Given the description of an element on the screen output the (x, y) to click on. 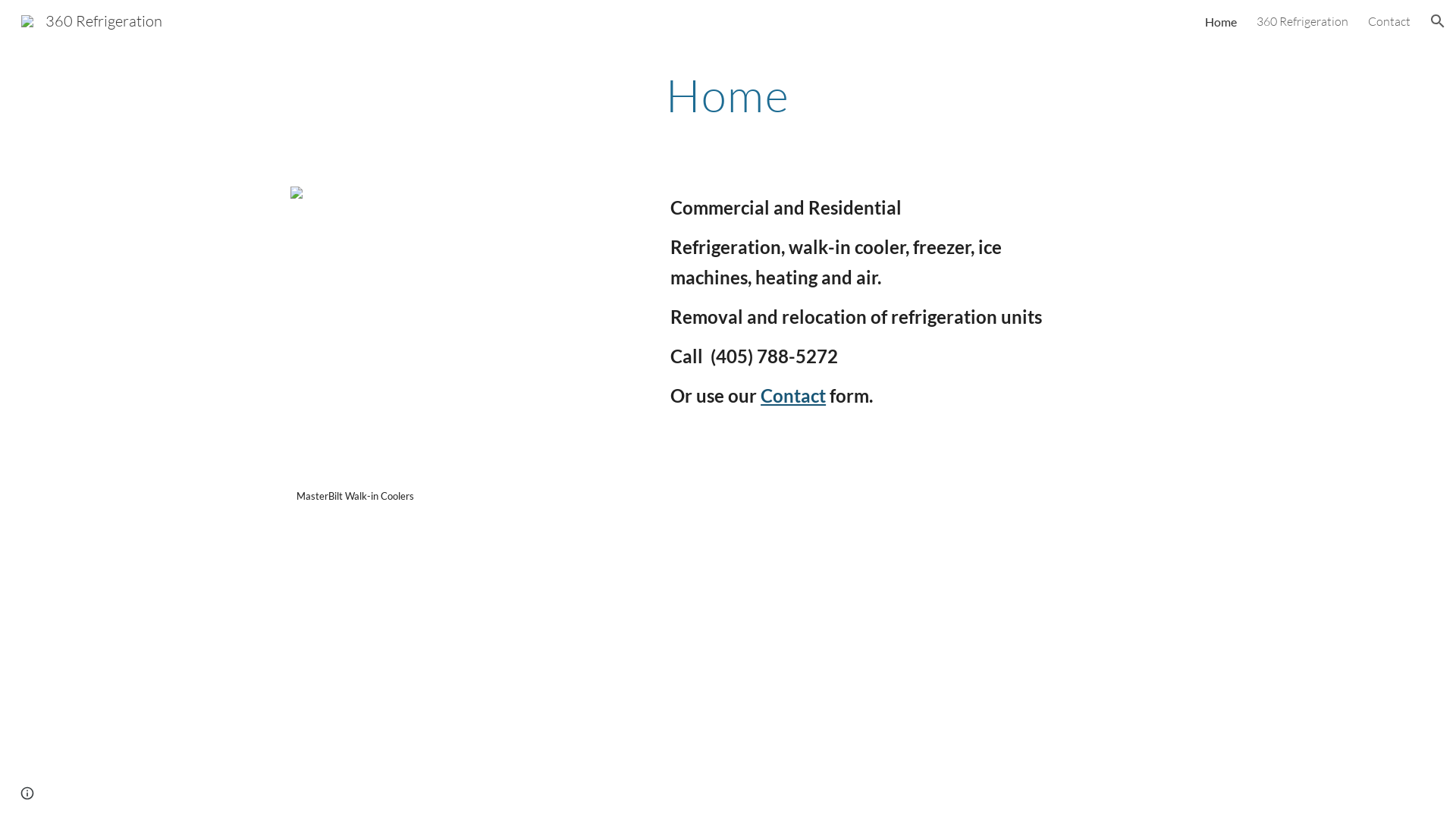
Home Element type: text (1220, 20)
Contact Element type: text (1389, 20)
360 Refrigeration Element type: text (1302, 20)
360 Refrigeration Element type: text (91, 18)
Contact Element type: text (792, 395)
